Given the description of an element on the screen output the (x, y) to click on. 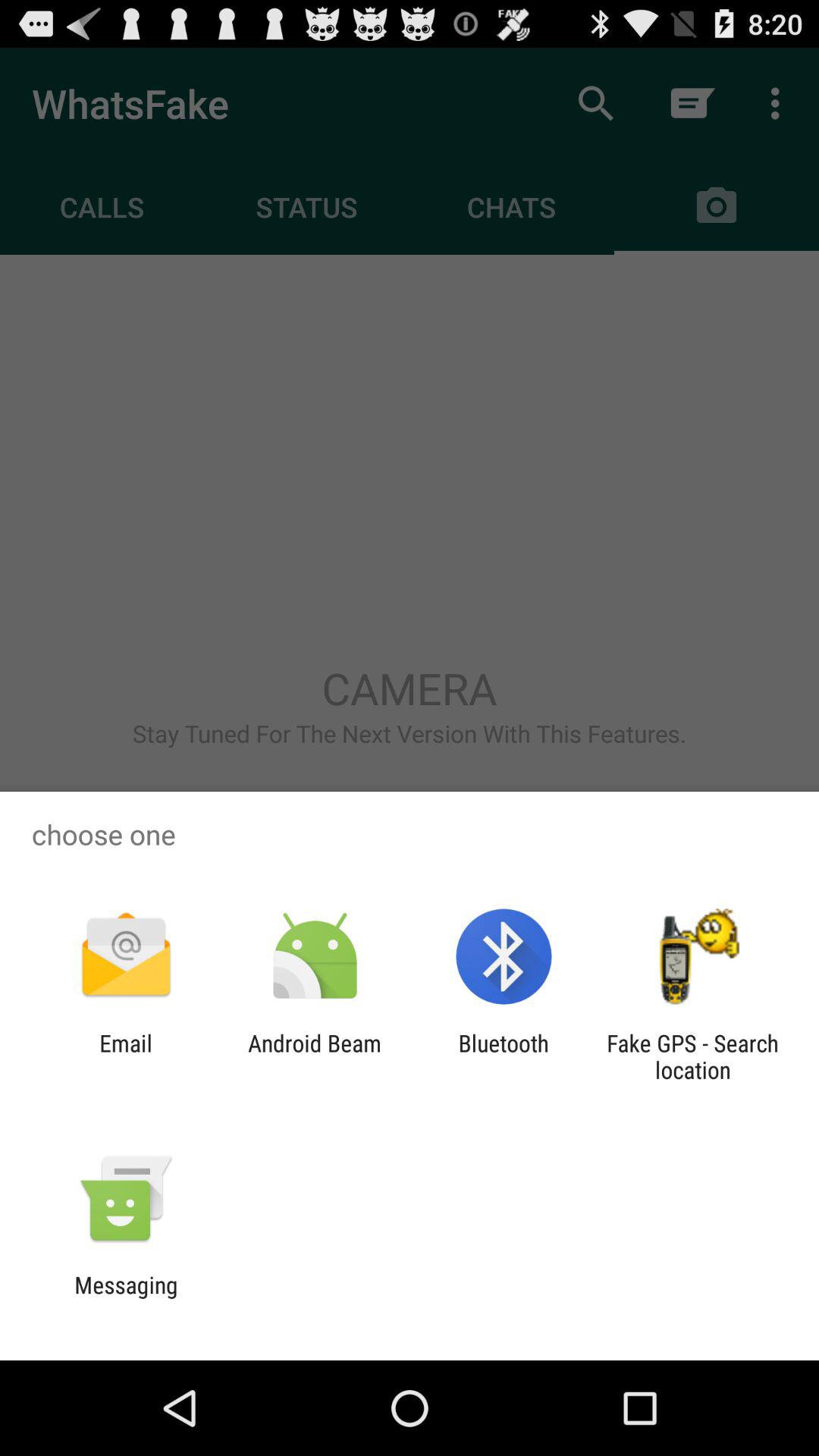
turn off icon at the bottom right corner (692, 1056)
